Given the description of an element on the screen output the (x, y) to click on. 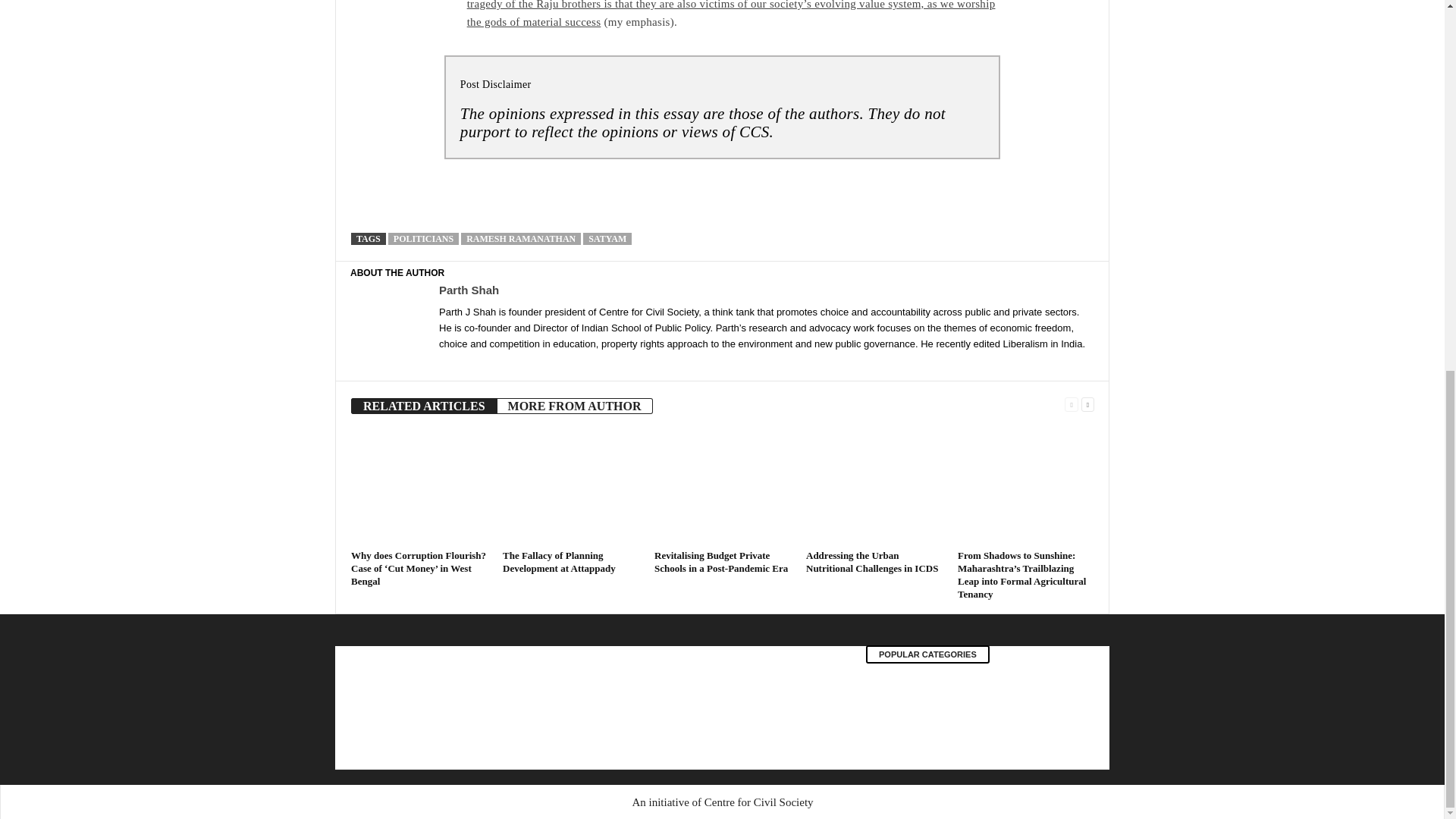
The Fallacy of Planning Development at Attappady (570, 487)
